Given the description of an element on the screen output the (x, y) to click on. 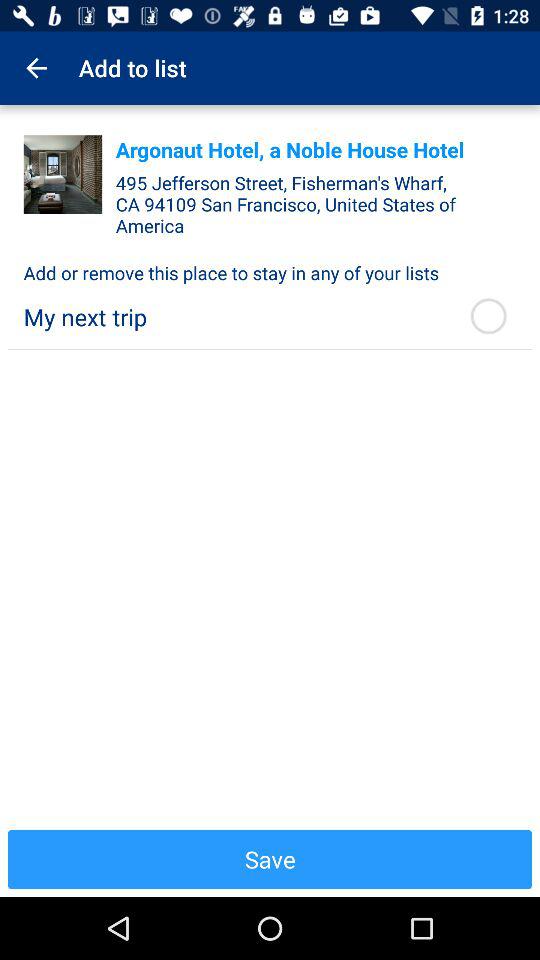
open my next trip app (233, 316)
